Given the description of an element on the screen output the (x, y) to click on. 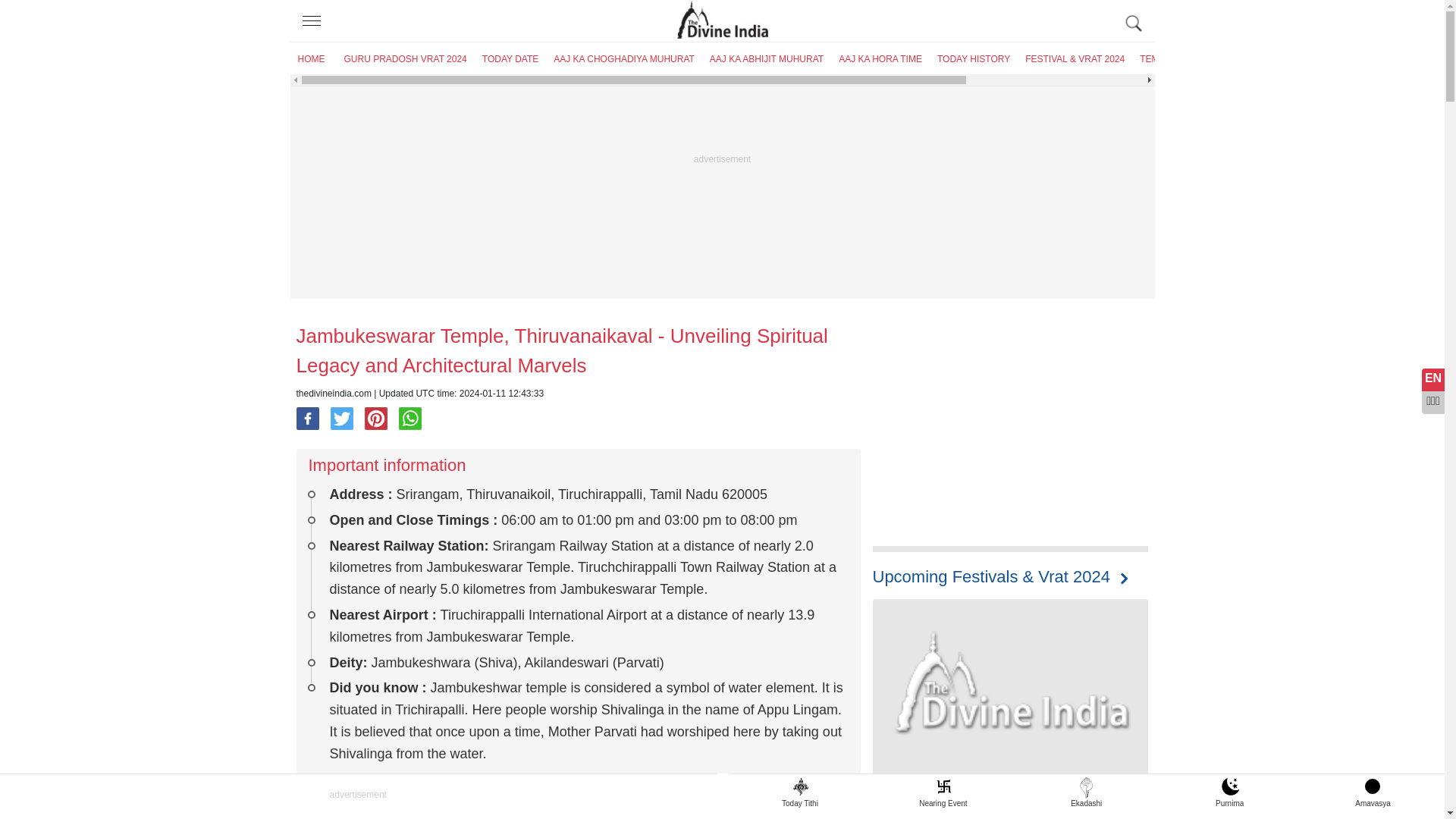
AAJ KA HORA TIME (880, 59)
TODAY DATE (510, 59)
AAJ KA CHOGHADIYA MUHURAT (623, 59)
AAJ KA ABHIJIT MUHURAT (766, 59)
TEMPLES (1160, 59)
Share on Pinterest (376, 418)
BLOG (1365, 59)
AARTIS (1213, 59)
GURU PRADOSH VRAT 2024 (405, 59)
TODAY HISTORY (973, 59)
MANTRA (1264, 59)
Share on twitter (341, 418)
Share on WhatsApp (410, 418)
The Divine India (722, 21)
HOME (310, 59)
